Given the description of an element on the screen output the (x, y) to click on. 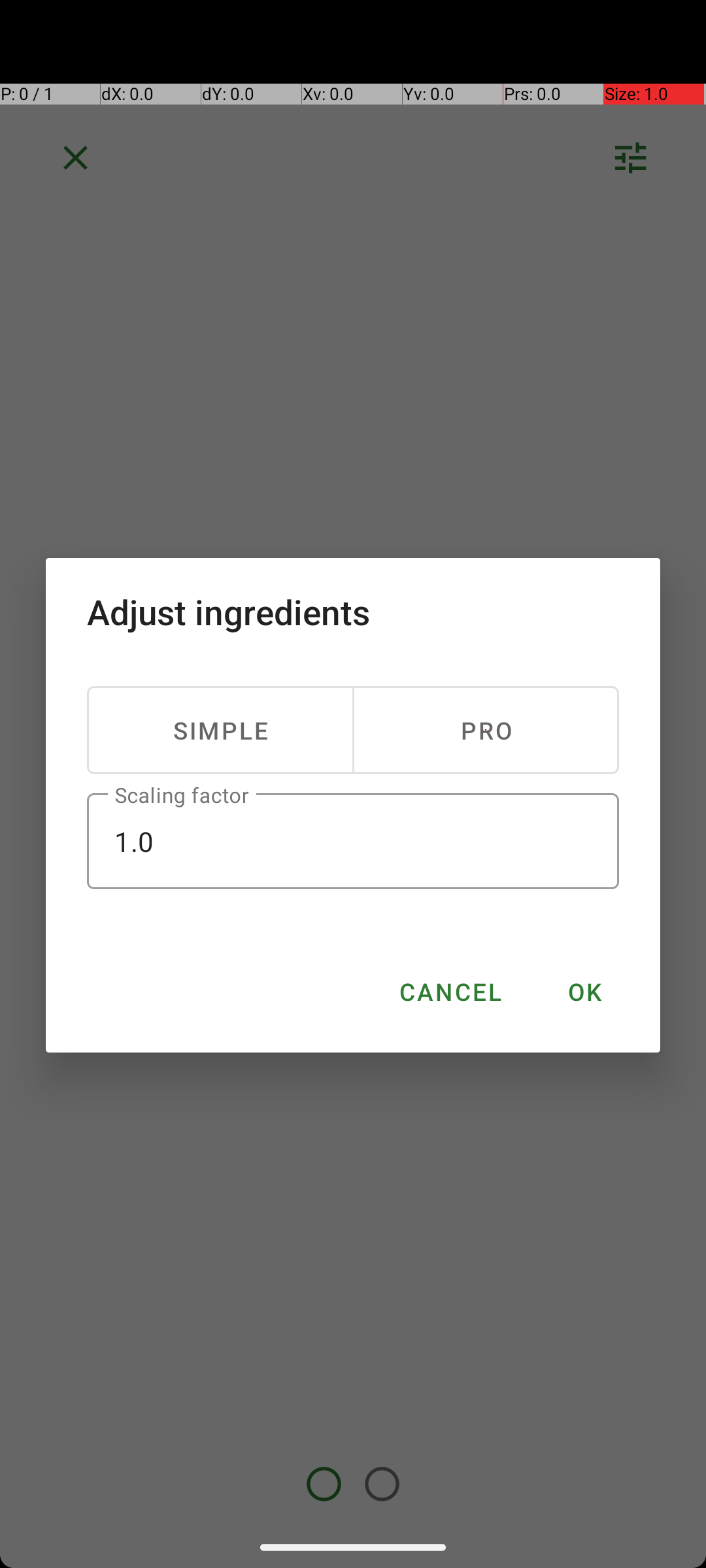
1.0 Element type: android.widget.EditText (352, 841)
